Given the description of an element on the screen output the (x, y) to click on. 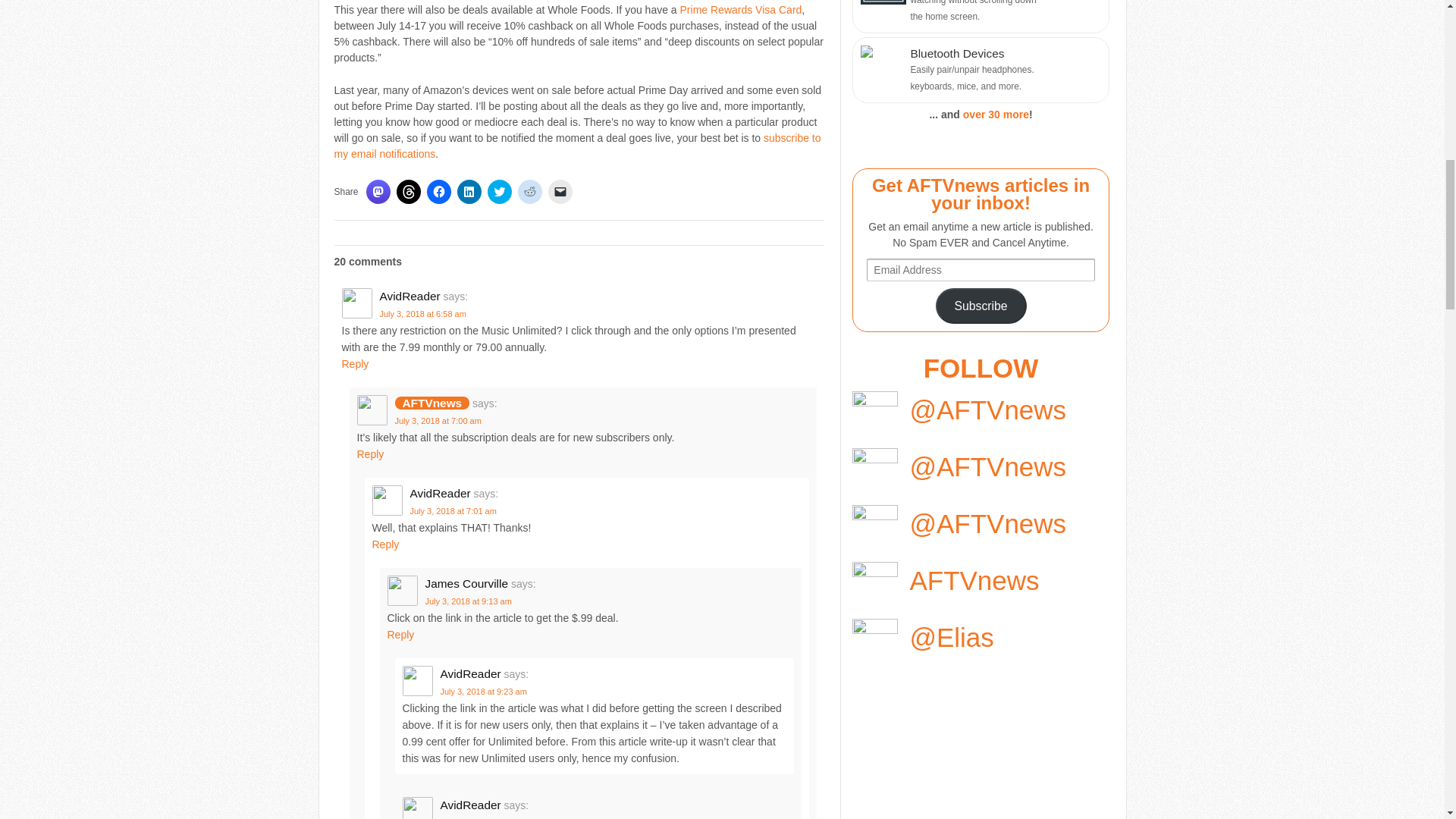
Click to email a link to a friend (560, 191)
Click to share on Threads (408, 191)
Click to share on Facebook (438, 191)
Click to share on LinkedIn (469, 191)
Click to share on Twitter (499, 191)
July 3, 2018 at 6:58 am (421, 313)
Prime Rewards Visa Card (740, 9)
Click to share on Reddit (529, 191)
subscribe to my email notifications (577, 145)
Click to share on Mastodon (378, 191)
